Given the description of an element on the screen output the (x, y) to click on. 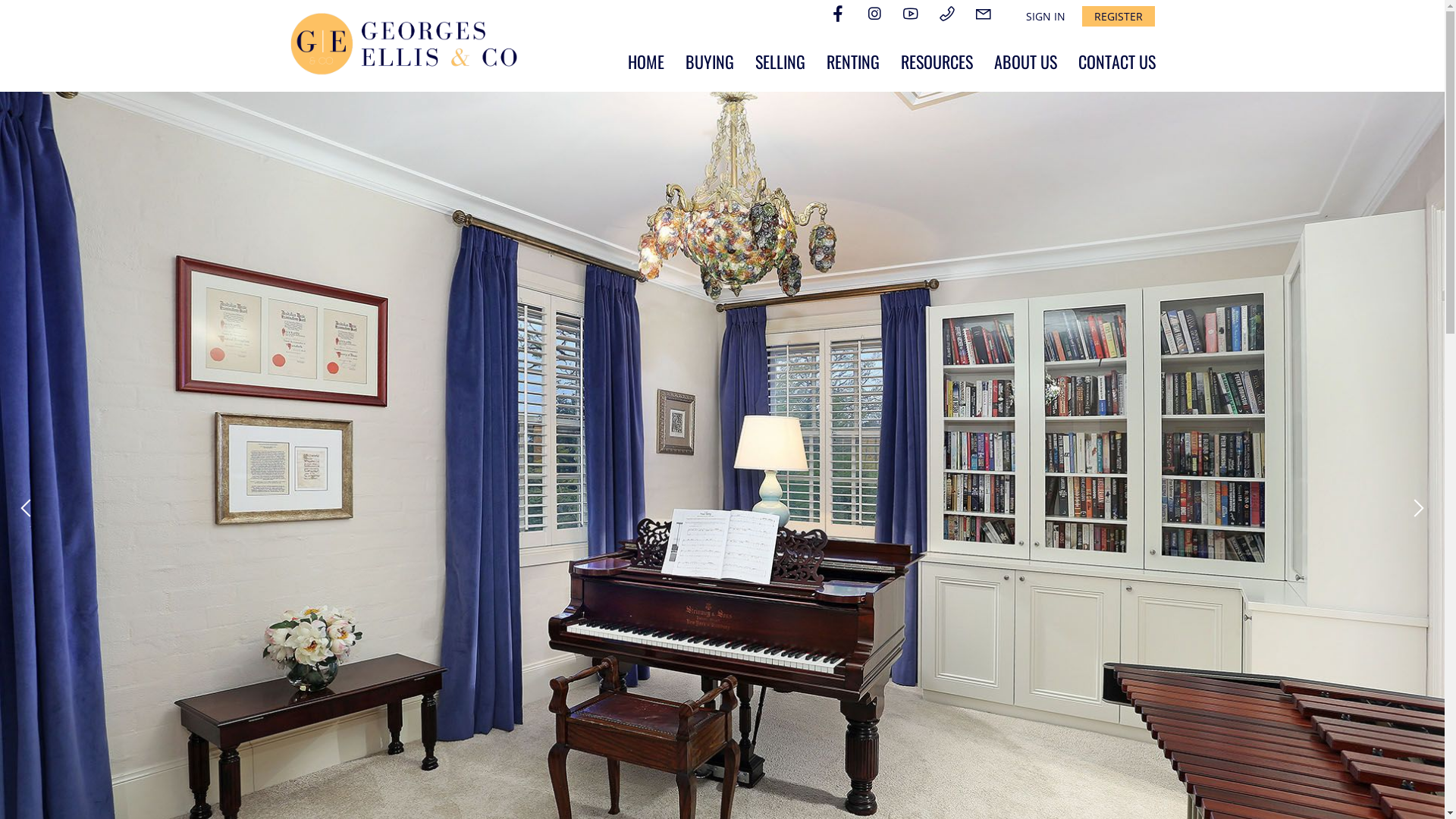
REGISTER Element type: text (1117, 16)
SIGN IN Element type: text (1044, 16)
BUYING Element type: text (709, 61)
CONTACT US Element type: text (1116, 61)
ABOUT US Element type: text (1024, 61)
SELLING Element type: text (779, 61)
RENTING Element type: text (852, 61)
HOME Element type: text (645, 61)
RESOURCES Element type: text (936, 61)
